Given the description of an element on the screen output the (x, y) to click on. 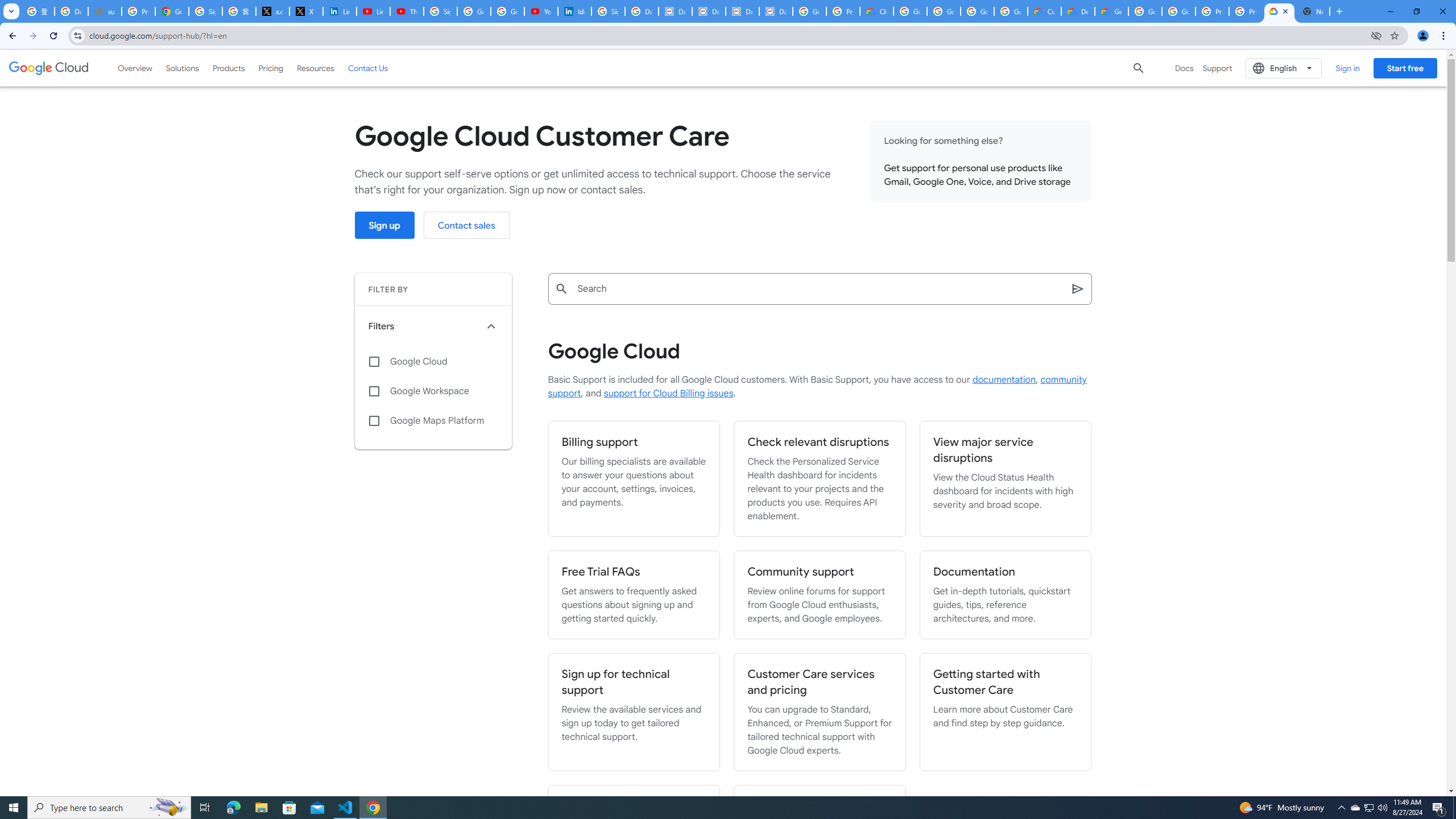
Google Cloud Platform (1179, 11)
Privacy Help Center - Policies Help (138, 11)
LinkedIn Privacy Policy (339, 11)
Google Workspace - Specific Terms (976, 11)
Google Cloud (432, 361)
Google Cloud (48, 67)
